Given the description of an element on the screen output the (x, y) to click on. 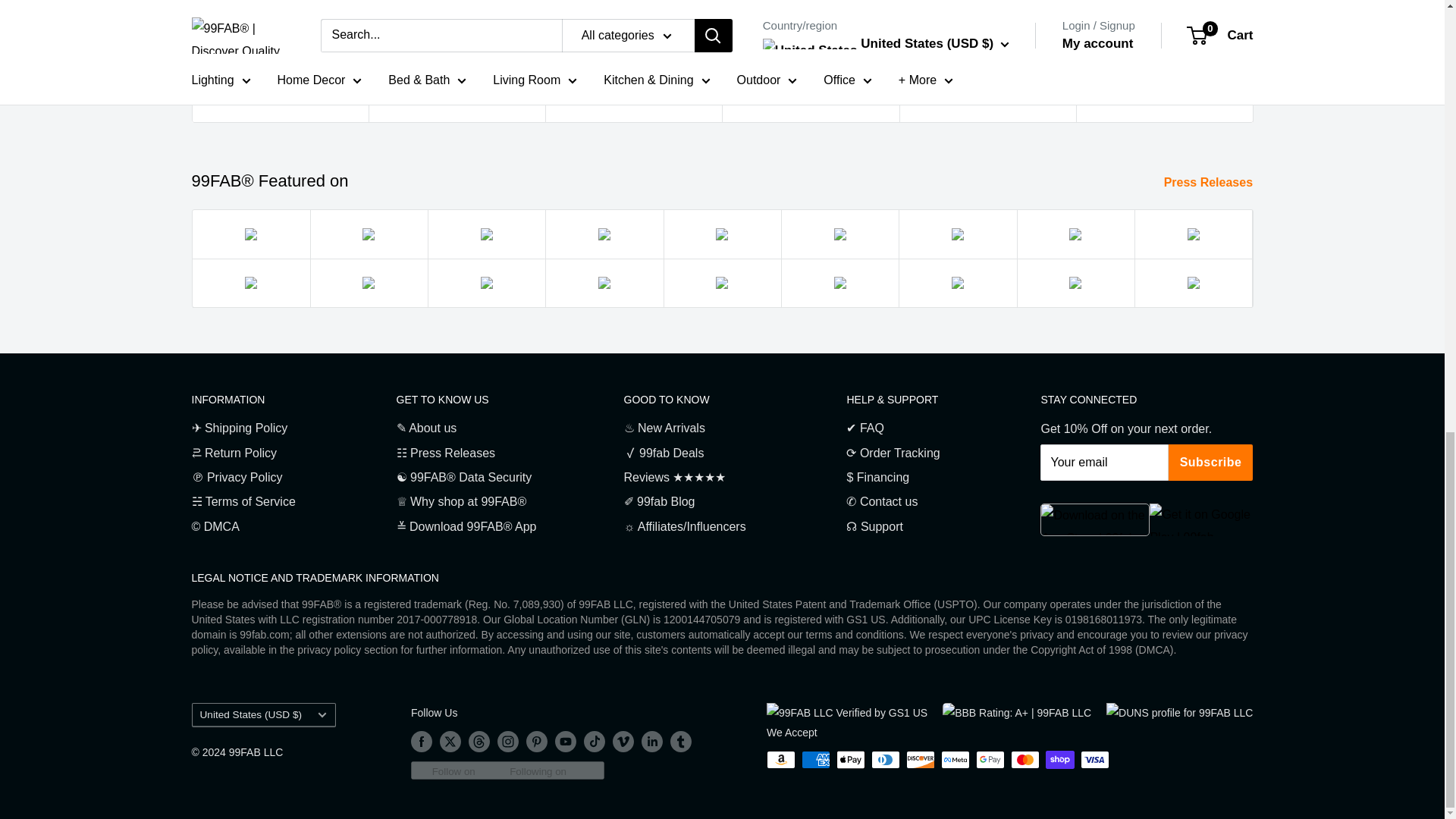
99FAB LLC Verified by GS1 US (847, 712)
DUNS profile for 99FAB LLC (1179, 712)
Get it on Google Play (1201, 519)
Download on the App Store (1095, 519)
